Given the description of an element on the screen output the (x, y) to click on. 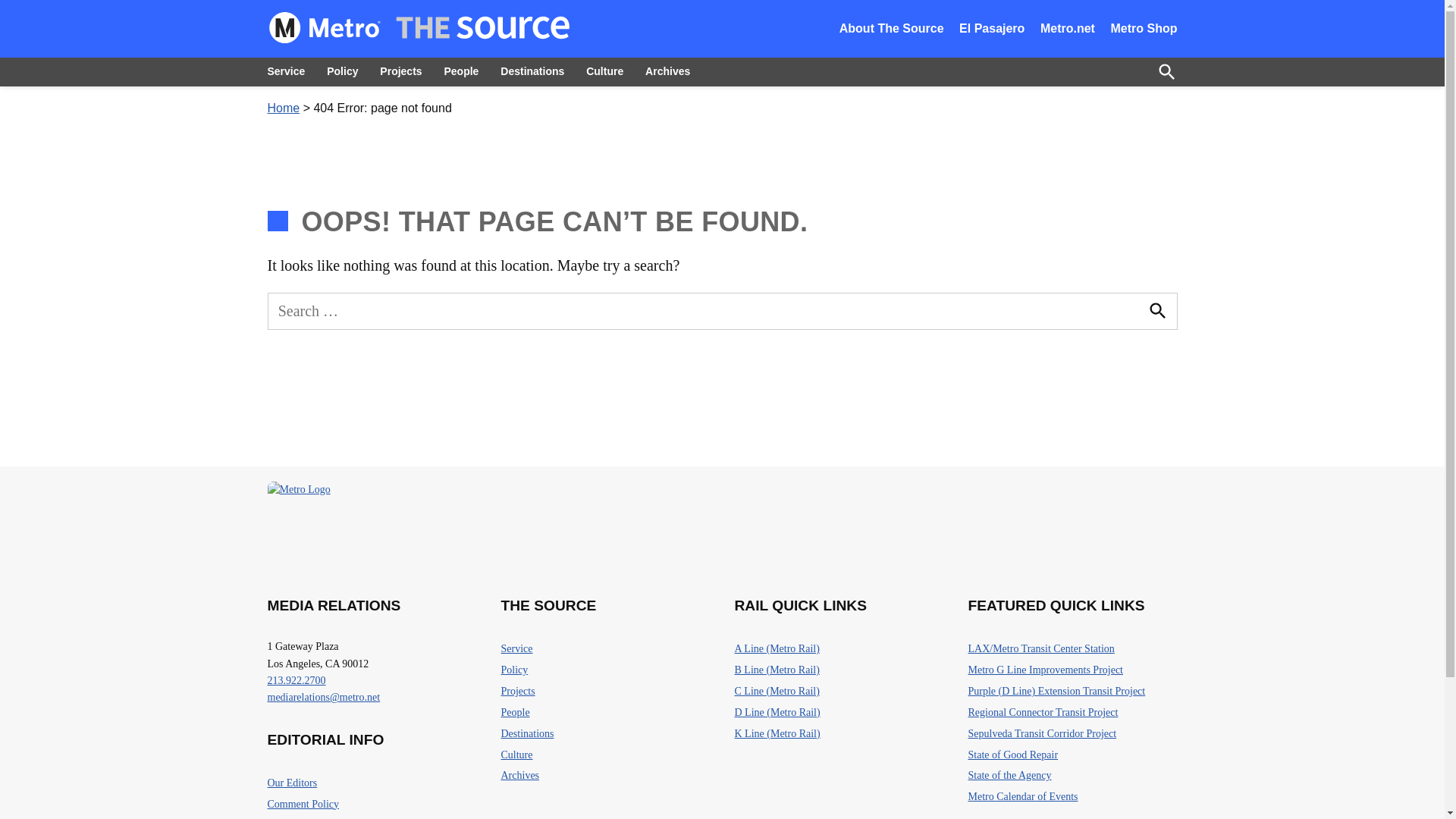
Metro Shop (1142, 28)
Our Editors (291, 783)
The Source (608, 49)
213.922.2700 (295, 680)
Search (1156, 310)
About The Source (891, 28)
El Pasajero (992, 28)
Culture (604, 71)
Comment Policy (302, 803)
Policy (341, 71)
